Given the description of an element on the screen output the (x, y) to click on. 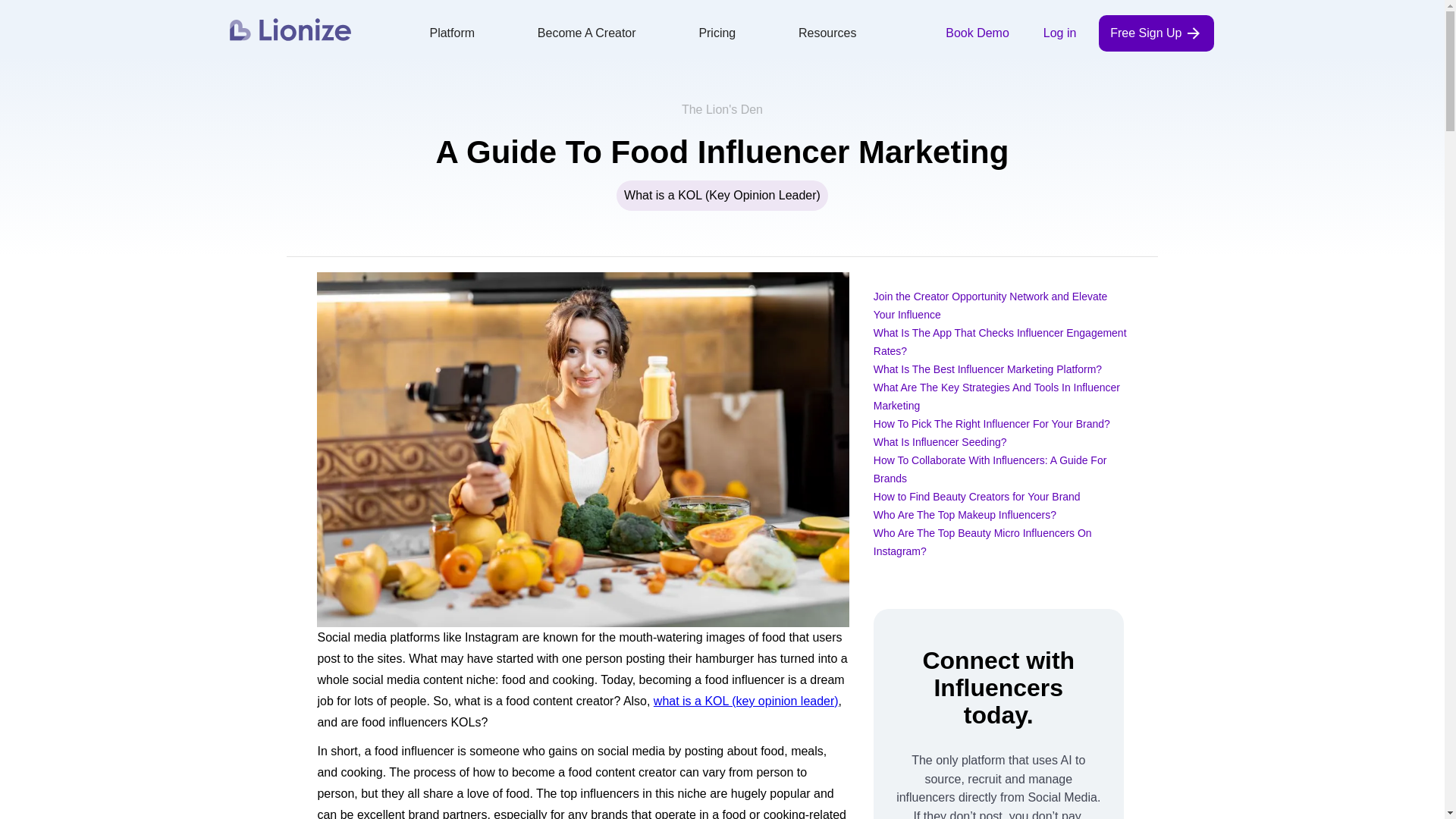
Free Sign Up (1156, 33)
Book Demo (977, 33)
Permalink to Who Are The Top Makeup Influencers? (965, 514)
Permalink to How to Find Beauty Creators for Your Brand (976, 496)
Resources (826, 32)
Permalink to What Is The Best Influencer Marketing Platform? (987, 369)
Lionize (290, 29)
What Is Influencer Seeding? (940, 441)
Who Are The Top Beauty Micro Influencers On Instagram? (982, 542)
What Is The App That Checks Influencer Engagement Rates? (999, 341)
